Given the description of an element on the screen output the (x, y) to click on. 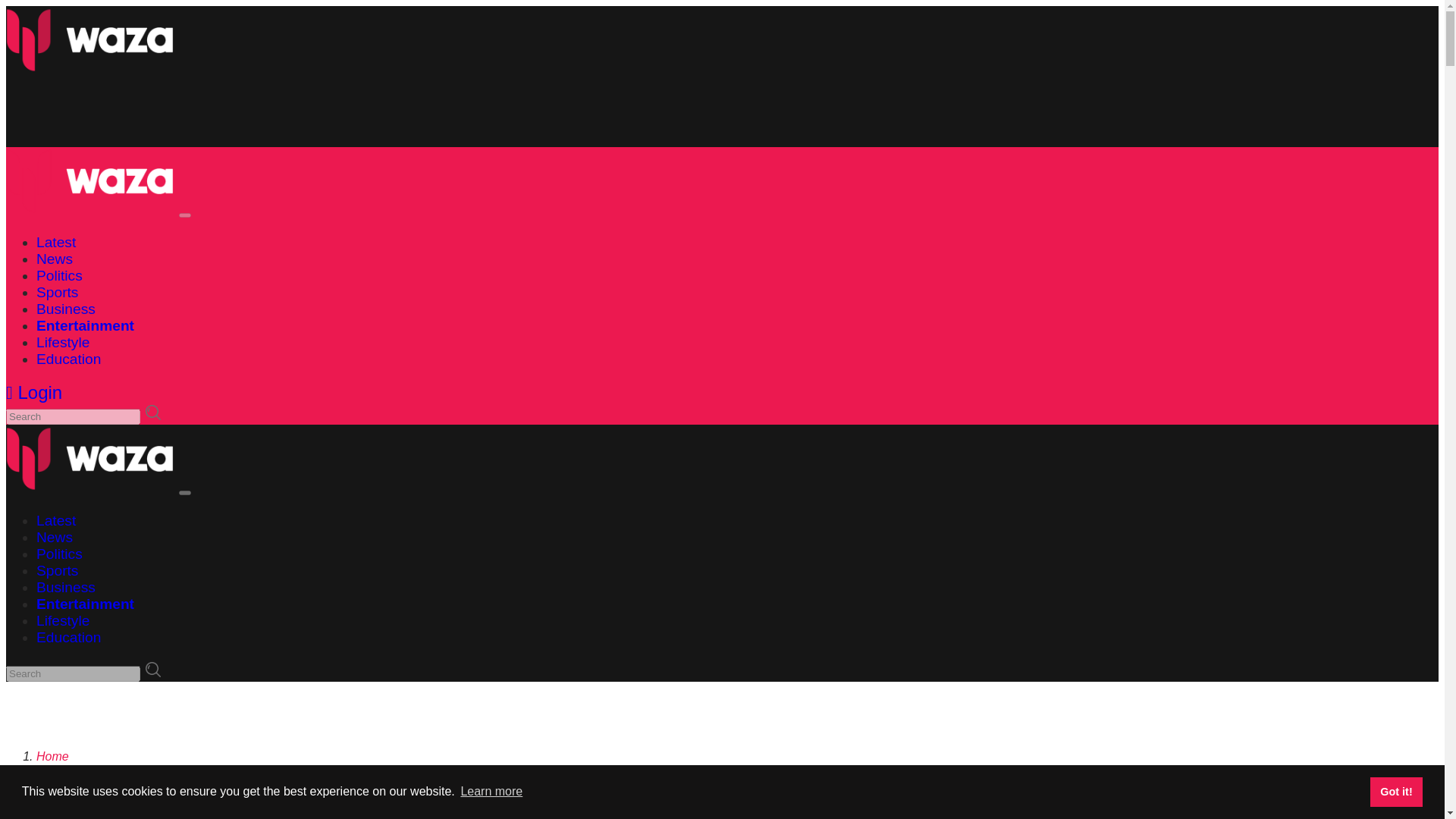
Business (66, 308)
Login (33, 392)
Latest (55, 242)
Sports (57, 570)
3rd party ad content (281, 112)
Entertainment (84, 325)
Education (68, 637)
News (54, 537)
Sports (57, 292)
Entertainment (74, 769)
Education (68, 358)
Latest (55, 520)
Lifestyle (62, 620)
Got it! (1396, 791)
News (54, 258)
